Given the description of an element on the screen output the (x, y) to click on. 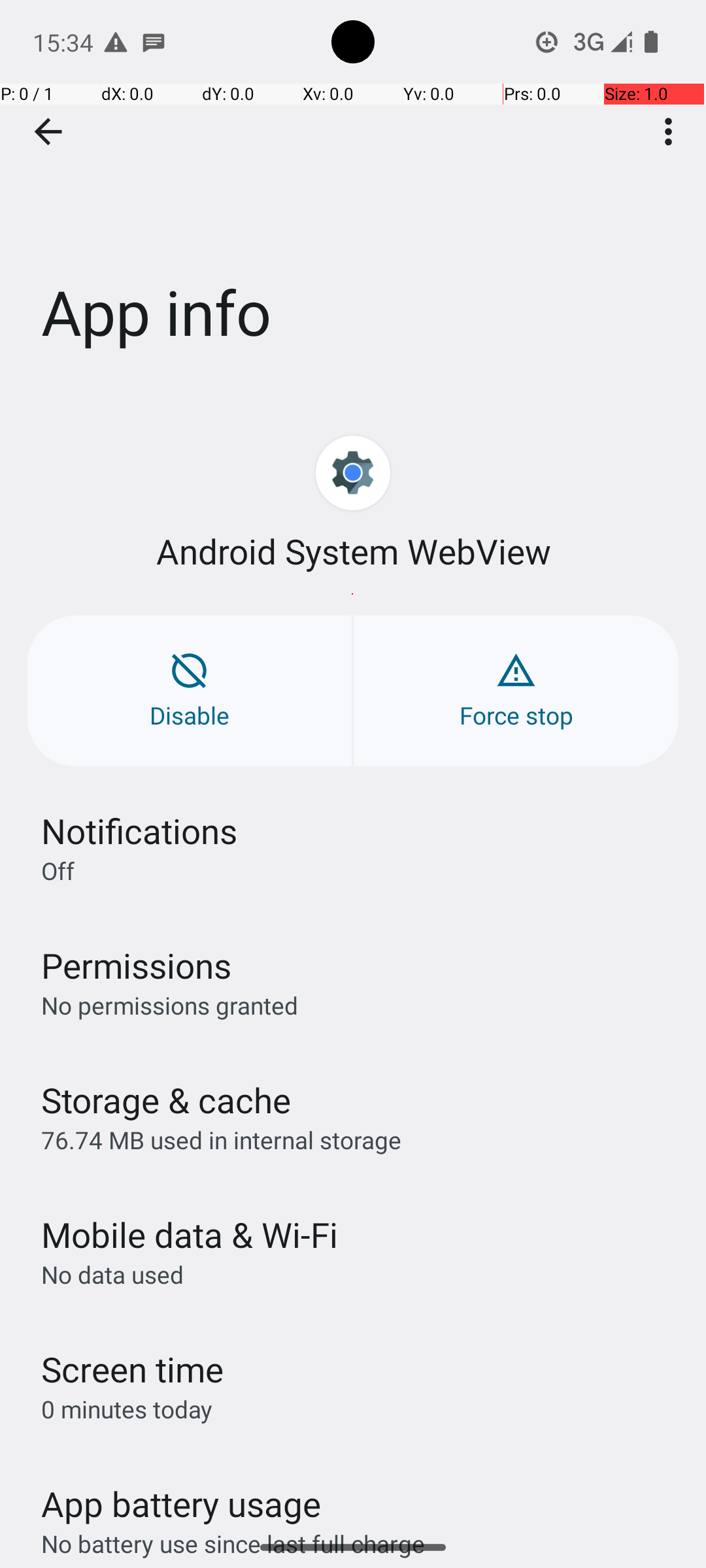
App info Element type: android.widget.FrameLayout (353, 195)
Android System WebView Element type: android.widget.TextView (352, 550)
Disable Element type: android.widget.Button (189, 690)
Force stop Element type: android.widget.Button (515, 690)
Permissions Element type: android.widget.TextView (136, 965)
No permissions granted Element type: android.widget.TextView (169, 1004)
Storage & cache Element type: android.widget.TextView (166, 1099)
76.74 MB used in internal storage Element type: android.widget.TextView (221, 1139)
Mobile data & Wi‑Fi Element type: android.widget.TextView (189, 1234)
No data used Element type: android.widget.TextView (112, 1273)
Screen time Element type: android.widget.TextView (132, 1368)
0 minutes today Element type: android.widget.TextView (127, 1408)
App battery usage Element type: android.widget.TextView (181, 1503)
